Given the description of an element on the screen output the (x, y) to click on. 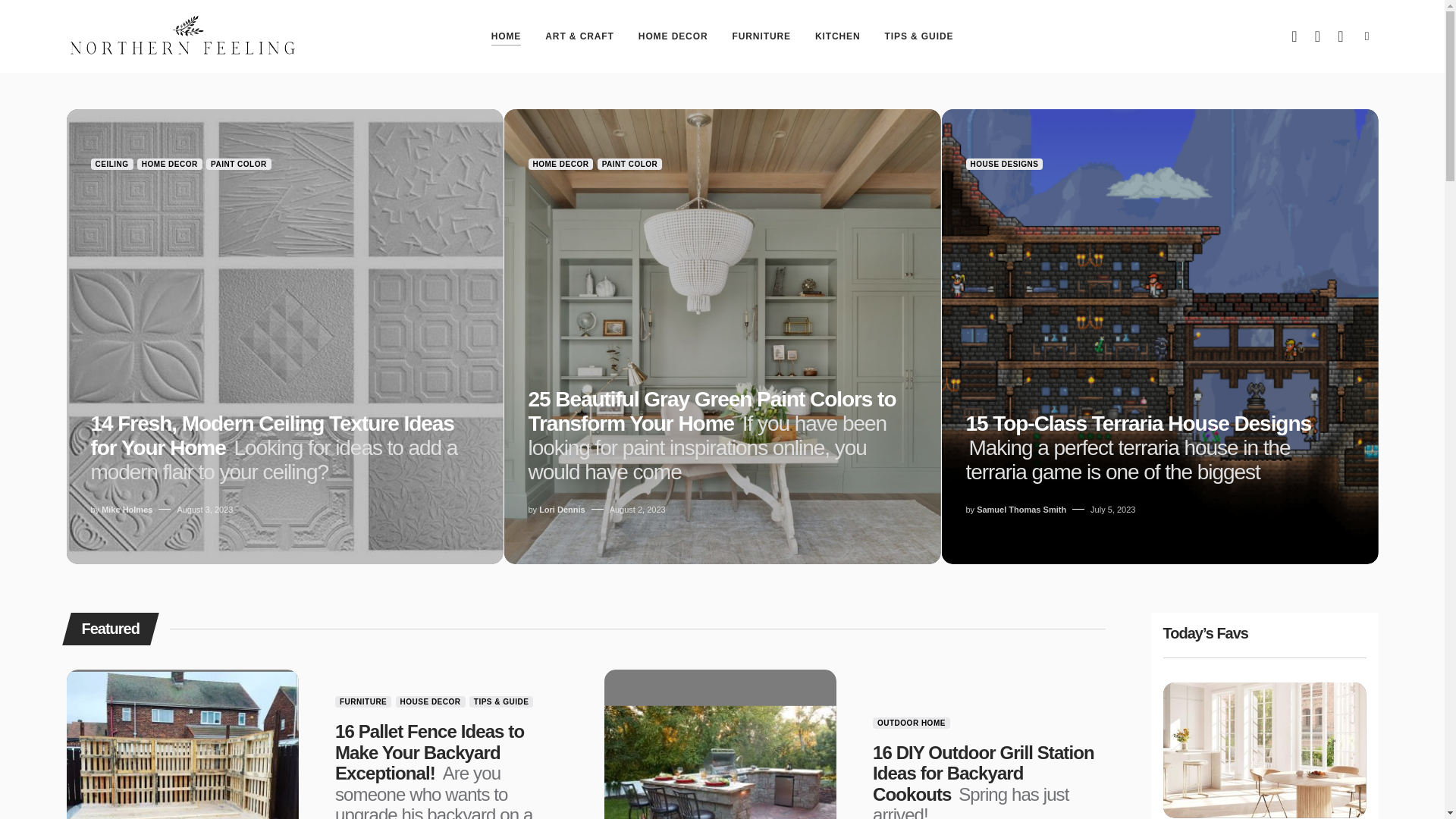
View all posts by Samuel Thomas Smith (1020, 509)
HOME DECOR (673, 36)
View all posts by Lori Dennis (561, 509)
View all posts by Mike Holmes (126, 509)
